Given the description of an element on the screen output the (x, y) to click on. 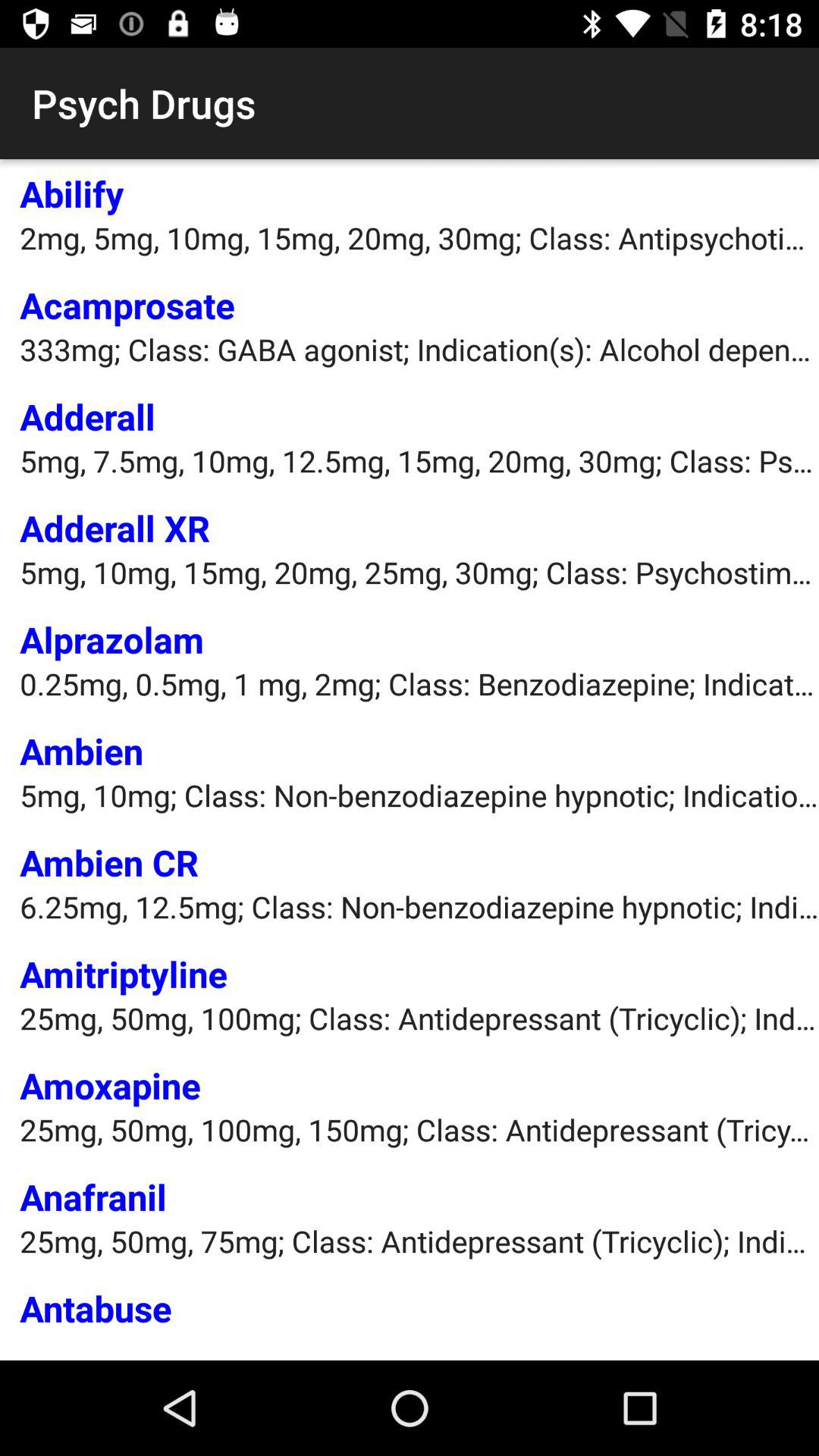
press app below the 25mg 50mg 75mg icon (95, 1308)
